Given the description of an element on the screen output the (x, y) to click on. 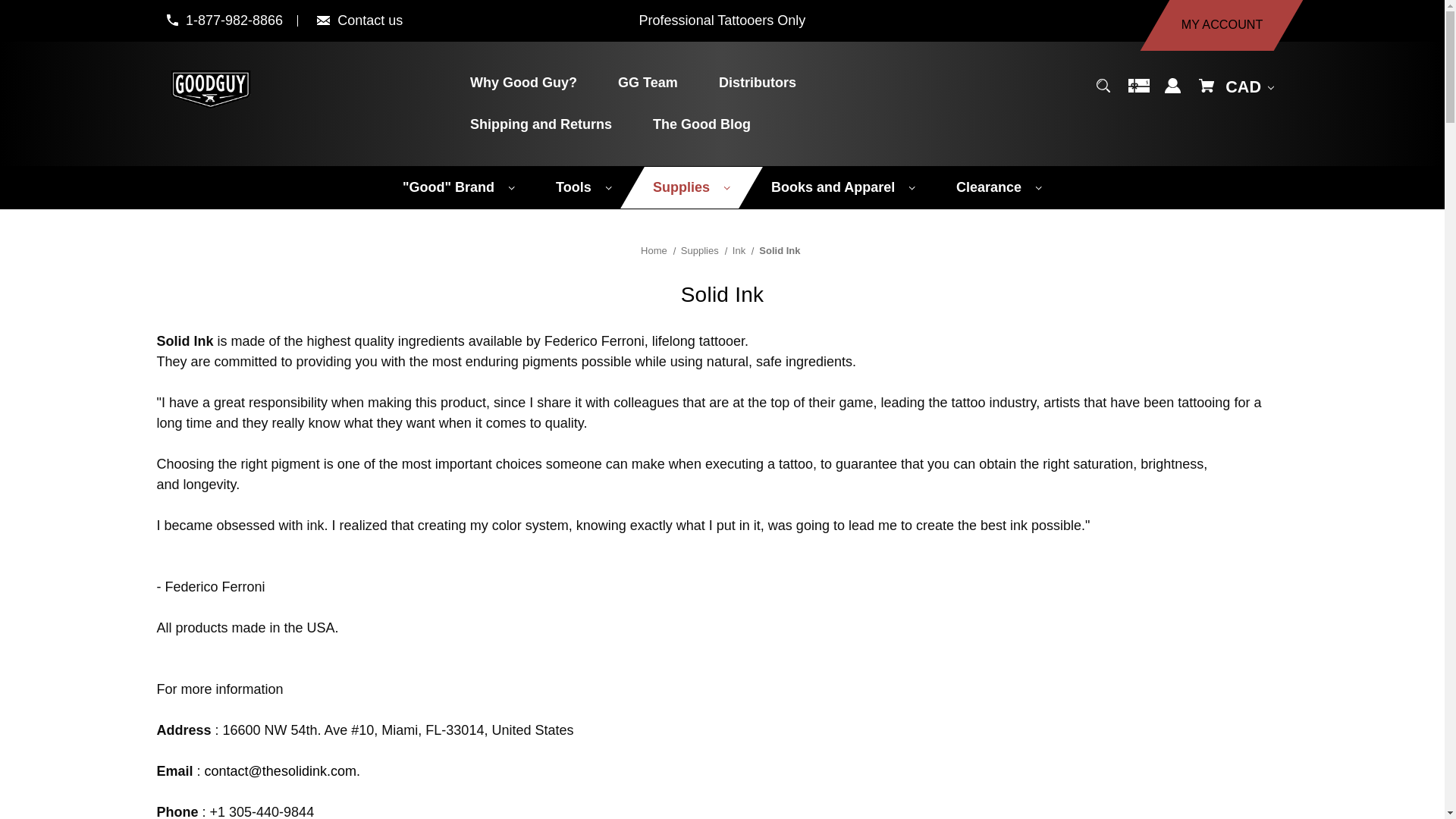
GIFT CARD IMAGE LARGE SQUARE BLACK IMAGE WITH A BOW ONTOP (1139, 85)
MAGNIFYING GLASS IMAGE LARGE RED CIRCLE WITH A BLACK BORDER (1102, 85)
Contact us (370, 20)
GG Team (635, 83)
The Good Blog (689, 124)
1-877-982-8866 (234, 20)
Why Good Guy? (511, 83)
Good Guy Tattoo Supply (210, 86)
Distributors (745, 83)
Shipping and Returns (529, 124)
